Given the description of an element on the screen output the (x, y) to click on. 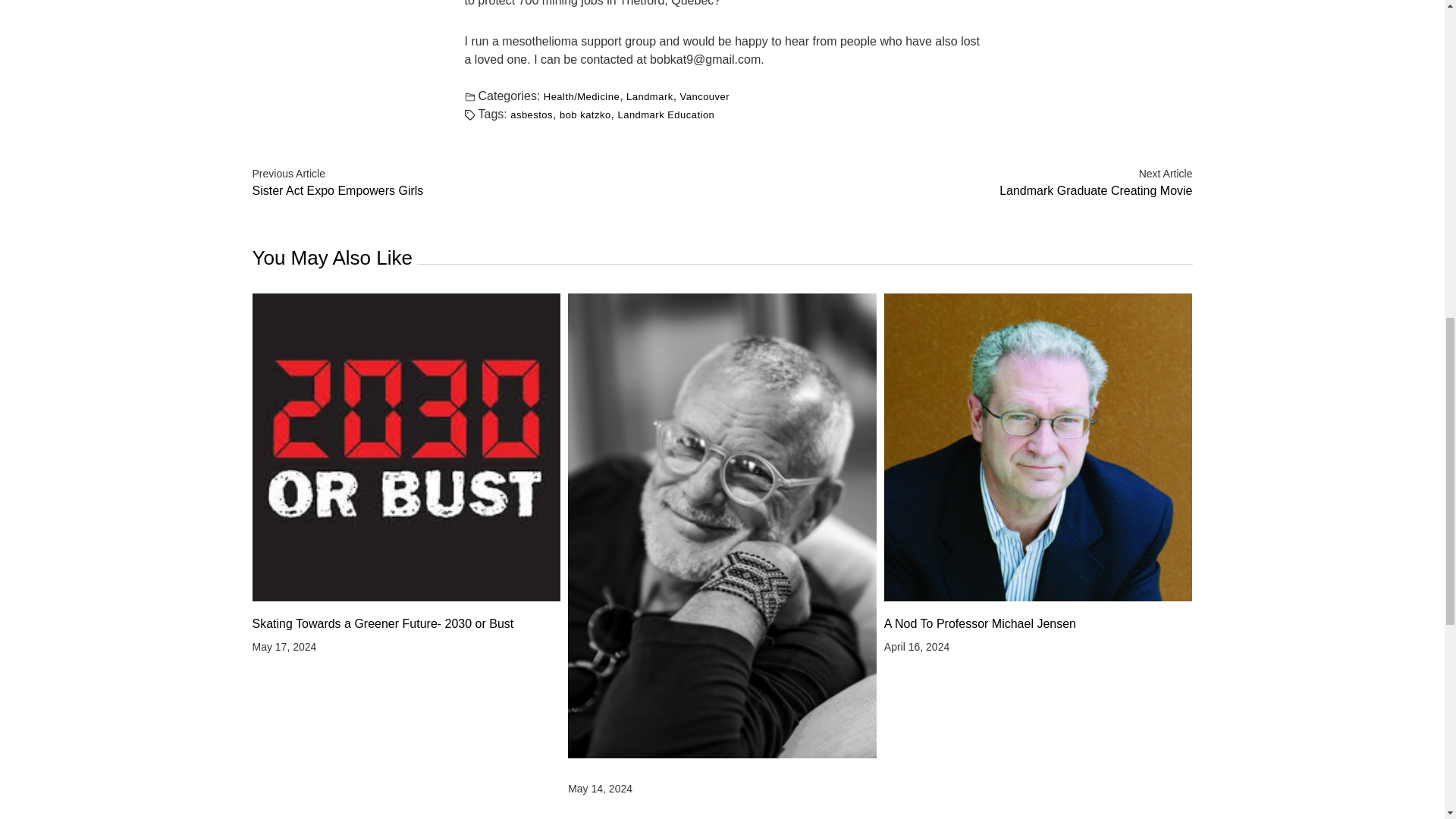
Skating Towards a Greener Future- 2030 or Bust (405, 623)
bob katzko (960, 182)
Landmark Education (482, 182)
Vancouver (585, 113)
asbestos (665, 113)
A Nod To Professor Michael Jensen (704, 95)
Landmark (532, 113)
